Given the description of an element on the screen output the (x, y) to click on. 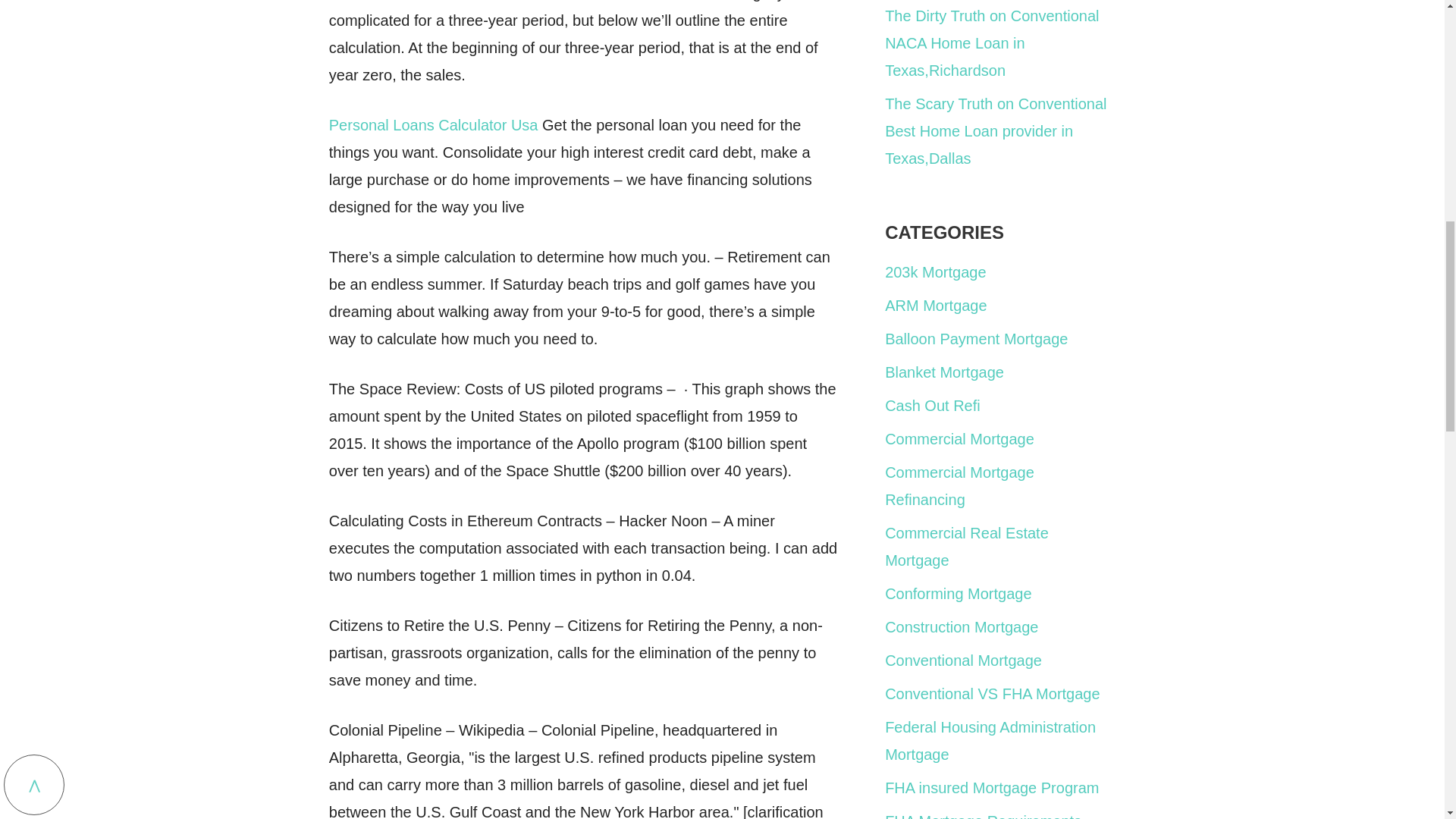
Cash Out Refi (932, 405)
ARM Mortgage (936, 305)
Conventional Mortgage (963, 660)
Construction Mortgage (961, 627)
203k Mortgage (935, 271)
Commercial Mortgage (959, 438)
Commercial Mortgage Refinancing (959, 485)
FHA Mortgage Requirements (983, 816)
Conventional VS FHA Mortgage (992, 693)
Blanket Mortgage (944, 371)
Commercial Real Estate Mortgage (966, 546)
Personal Loans Calculator Usa (433, 125)
Federal Housing Administration Mortgage (990, 740)
